Given the description of an element on the screen output the (x, y) to click on. 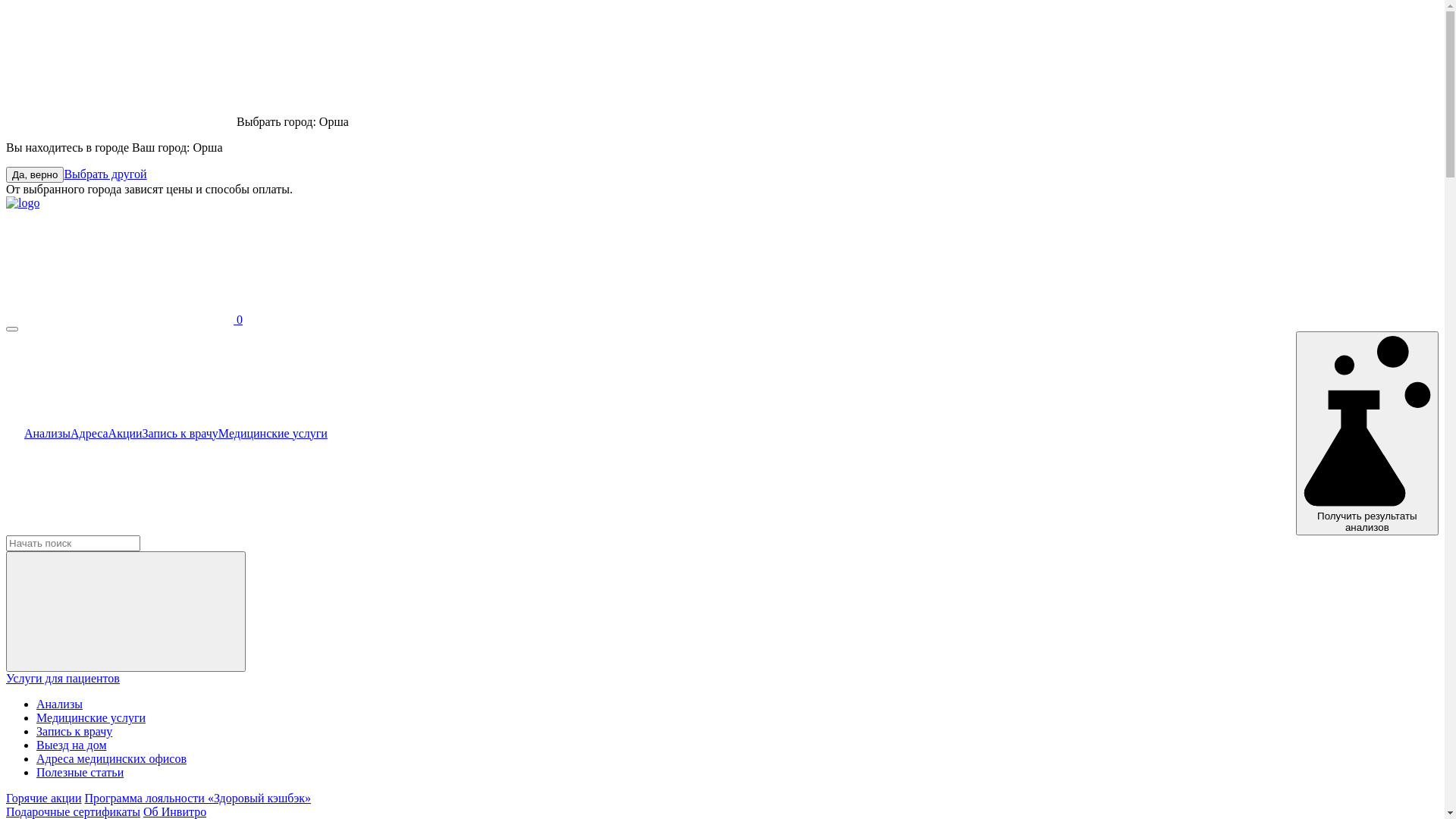
0 Element type: text (124, 319)
